Given the description of an element on the screen output the (x, y) to click on. 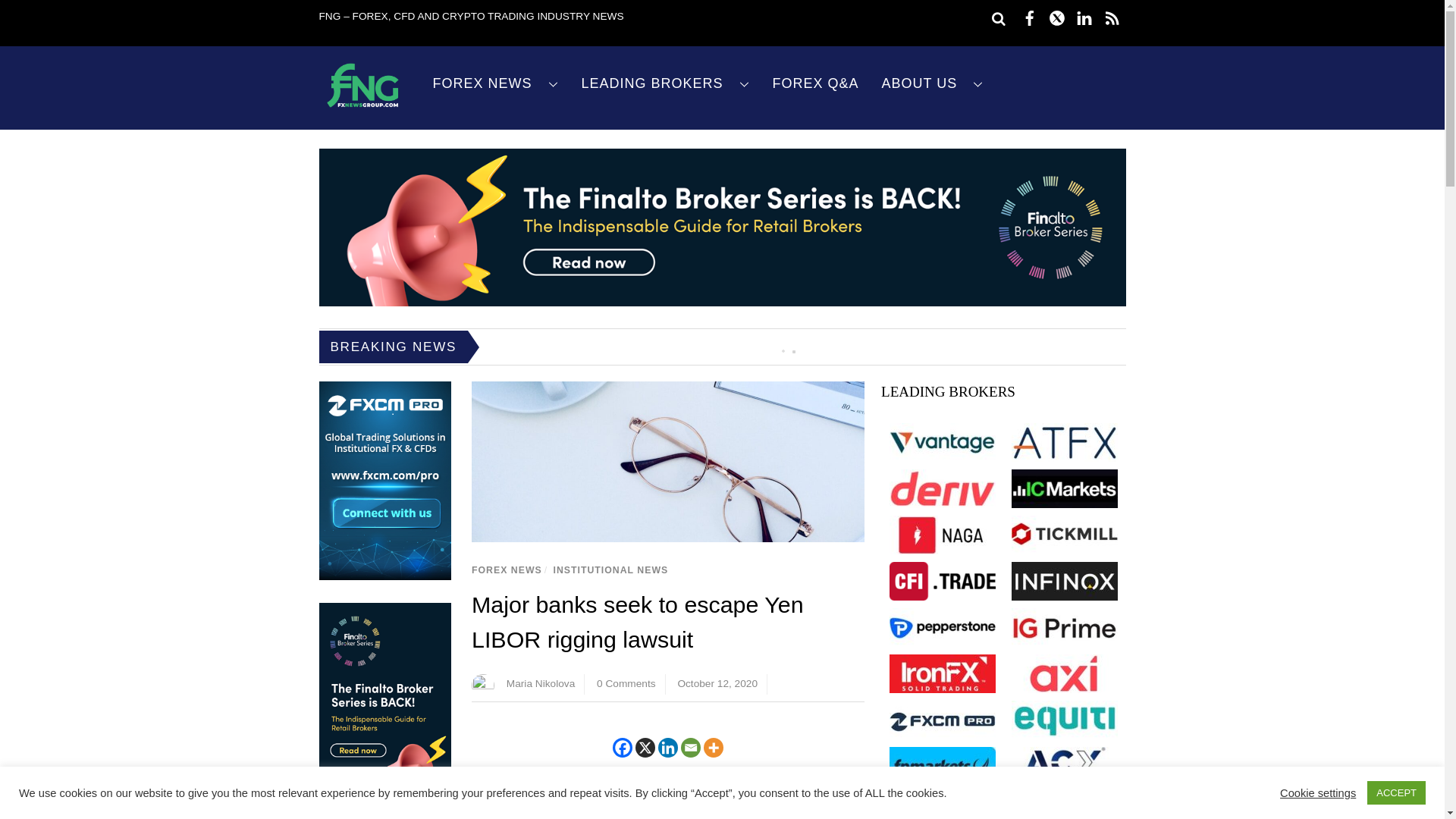
FOREX NEWS (496, 83)
Facebook (621, 747)
More (713, 747)
X (644, 747)
Linkedin (668, 747)
Email (690, 747)
FX News Group (362, 108)
LEADING BROKERS (665, 83)
